Given the description of an element on the screen output the (x, y) to click on. 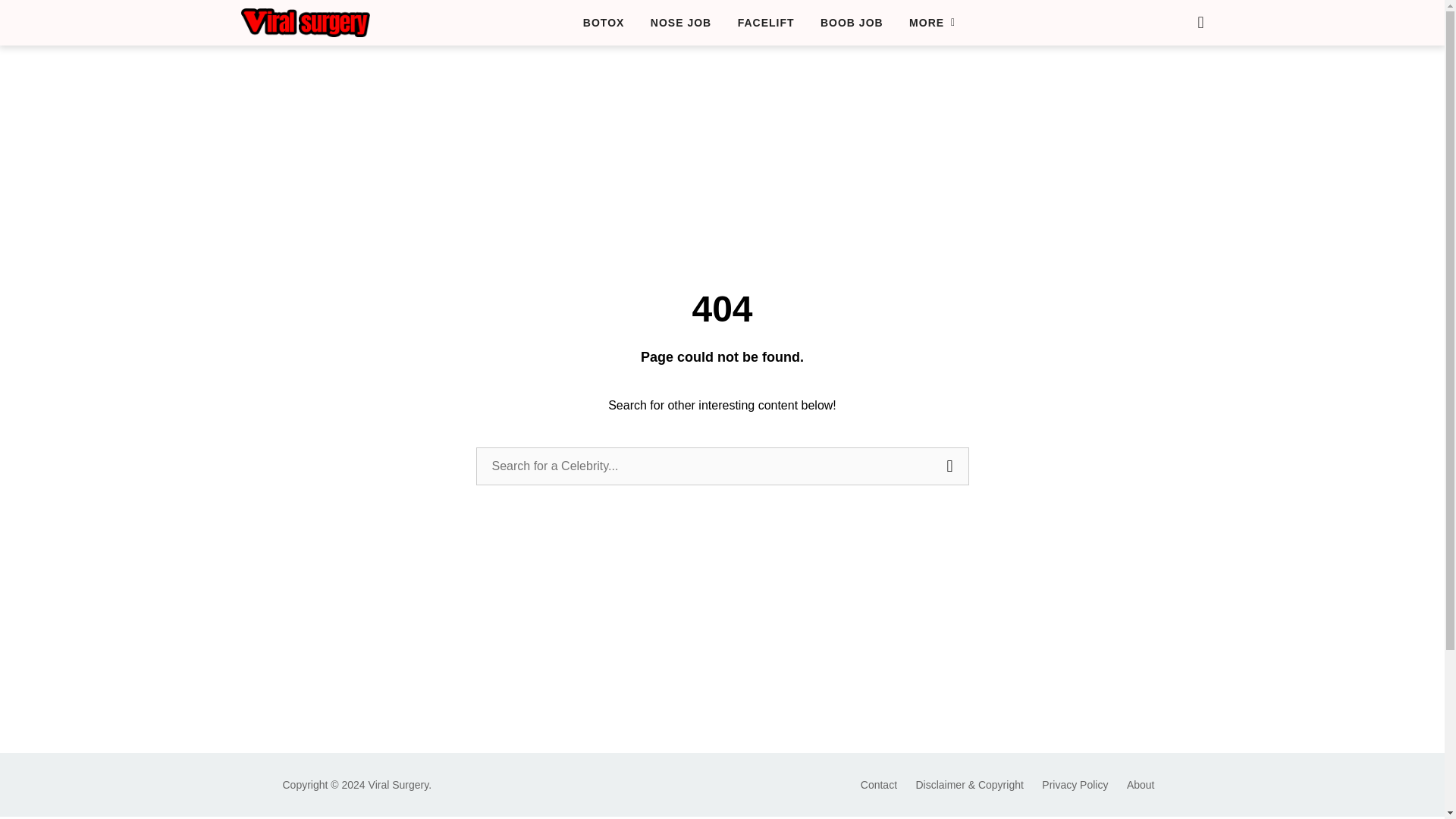
Privacy Policy (1075, 784)
NOSE JOB (680, 22)
FACELIFT (766, 22)
About (1140, 784)
MORE (931, 22)
Contact (878, 784)
BOOB JOB (852, 22)
BOTOX (603, 22)
Search (950, 466)
